Given the description of an element on the screen output the (x, y) to click on. 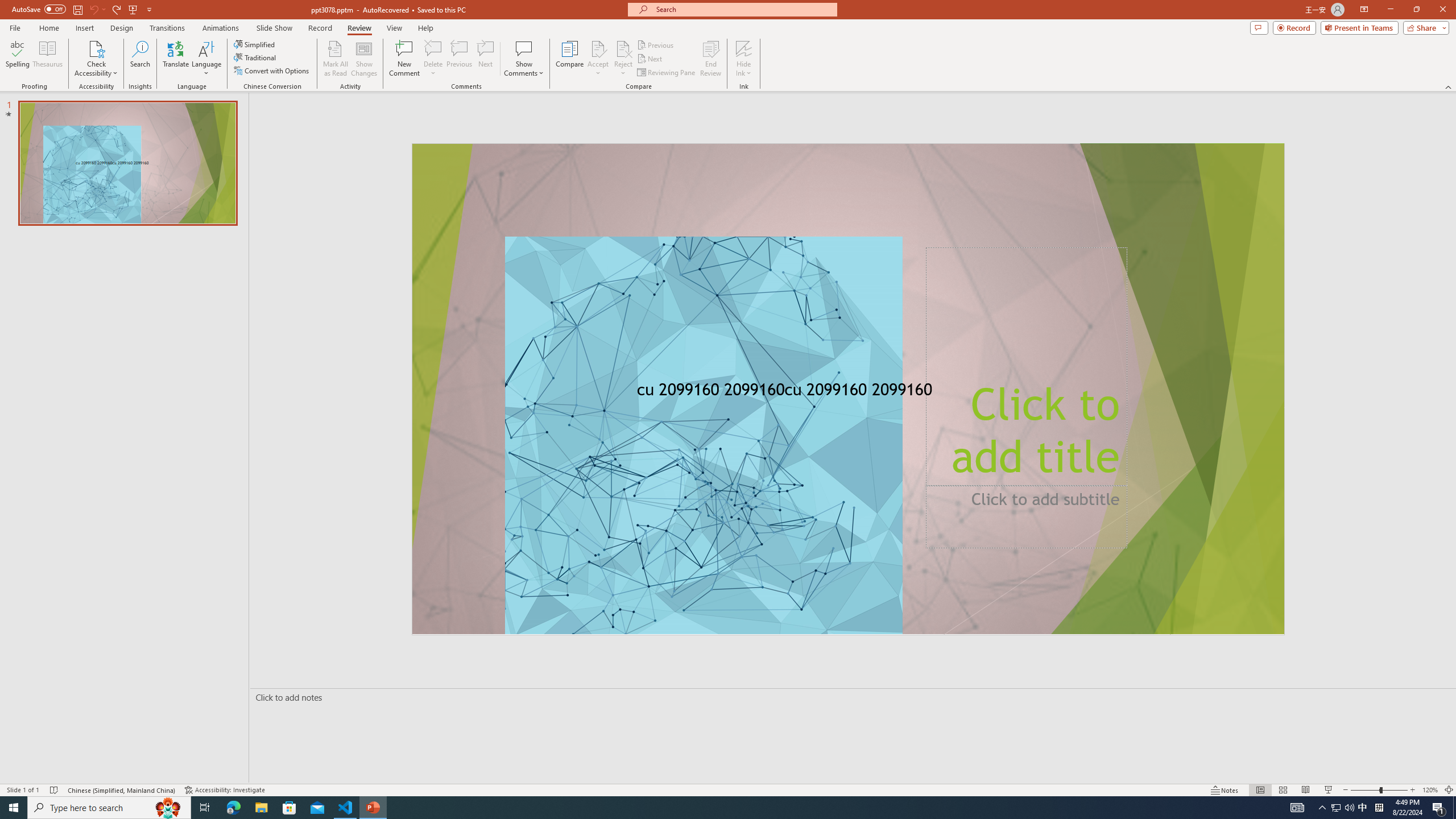
Reject (622, 58)
Thesaurus... (47, 58)
Simplified (254, 44)
